Given the description of an element on the screen output the (x, y) to click on. 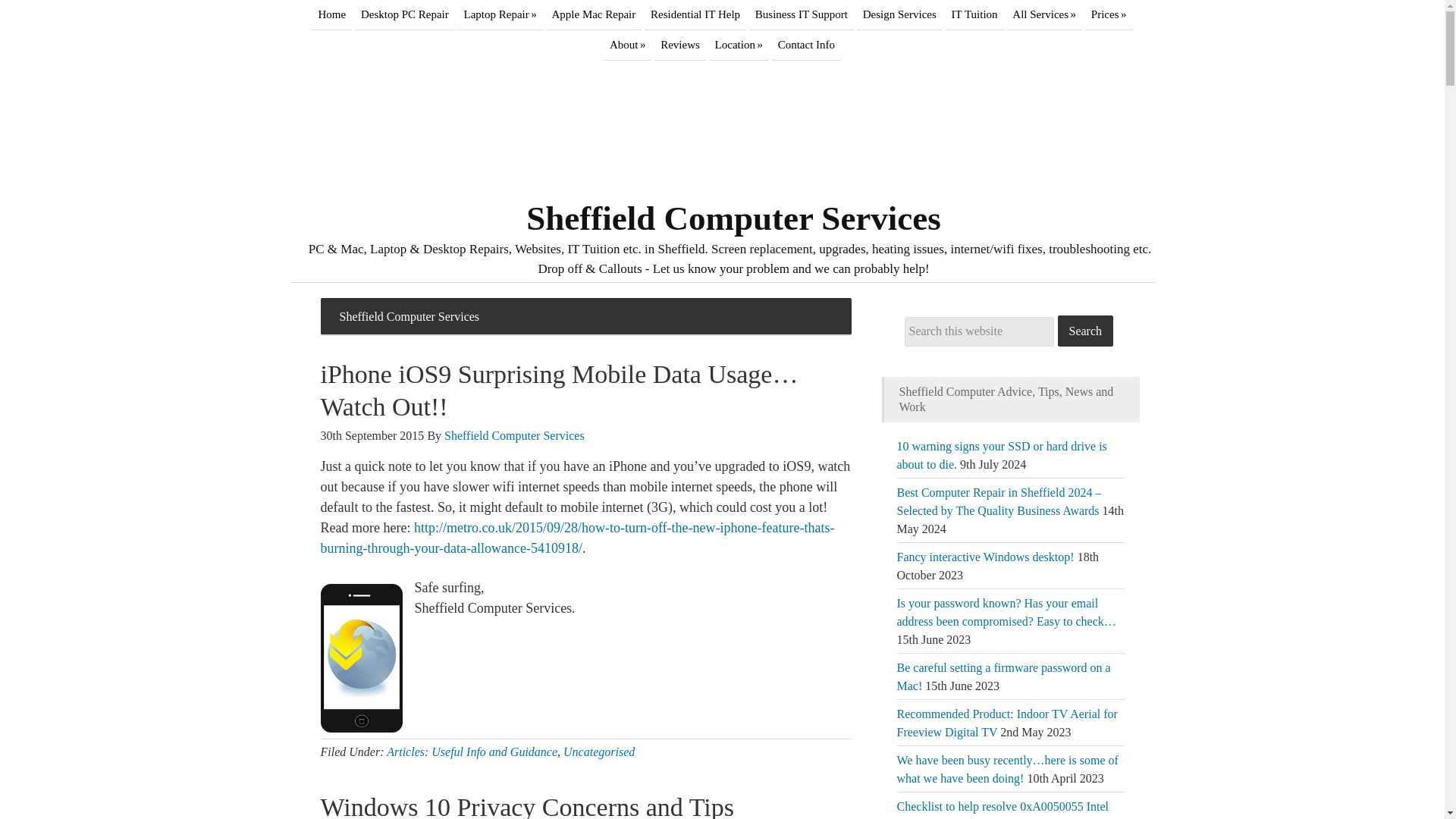
Laptop Repair (499, 15)
Computer Repair Fix Help Prices for Sheffield (1108, 15)
Laptop Repair in Sheffield (499, 15)
Flyers and Document Design (899, 15)
Residential IT Help (695, 15)
Prices (1108, 15)
Business IT Support (801, 15)
Search (1085, 330)
Computer IT Internet PC Mac Tablet Tuition in Sheffield (974, 15)
Apple Mac Repair (593, 15)
Home (331, 15)
All Computer Services We Provide to Sheffield (1043, 15)
About Sheffield Computer Services (628, 45)
Design Services (899, 15)
Desktop PC Repair (404, 15)
